Given the description of an element on the screen output the (x, y) to click on. 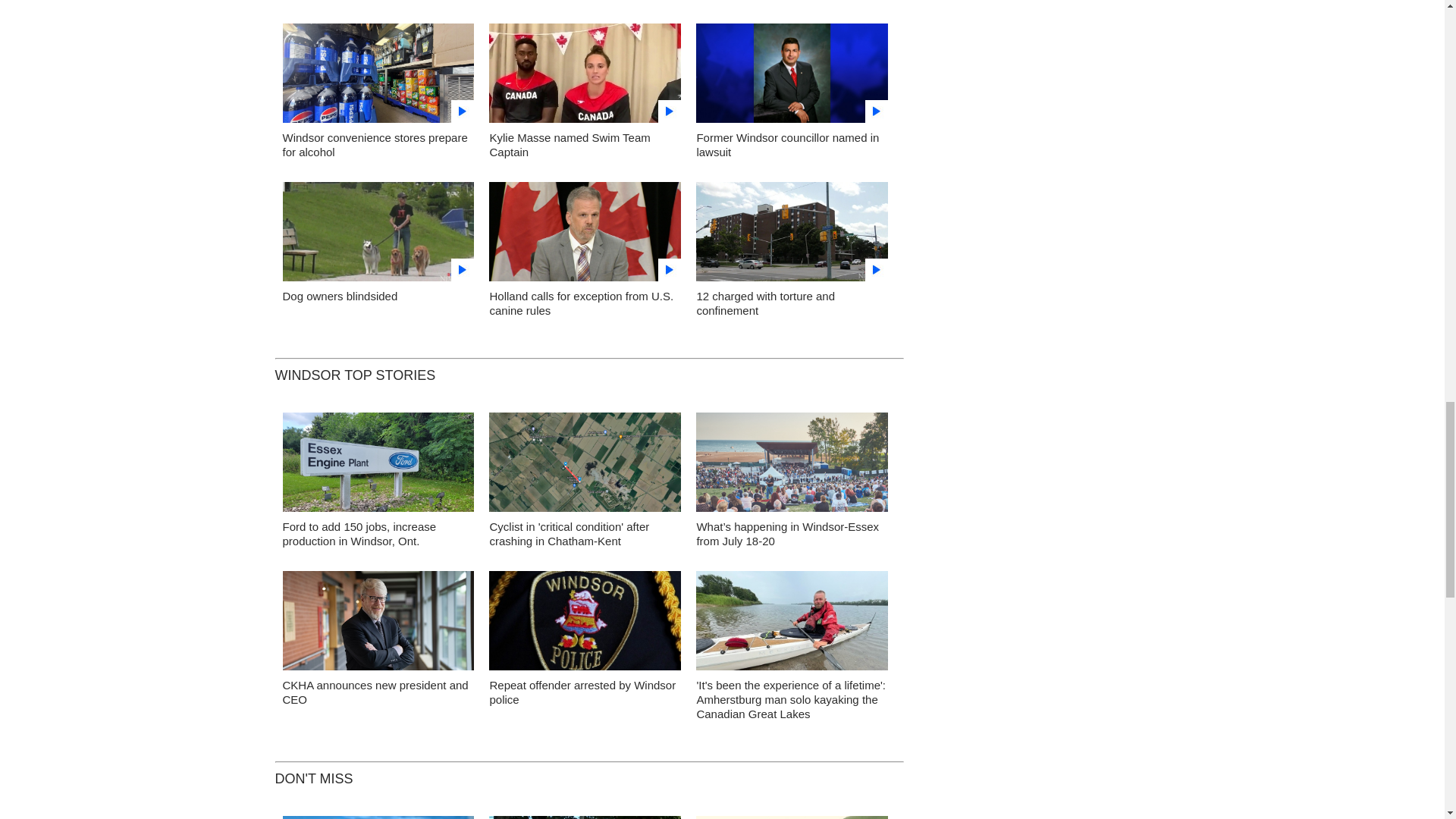
Ford Essex Engine Plant  (378, 466)
Non-alcoholic drinks in convenience stores (378, 77)
Windsor convenience stores prepare for alcohol (374, 144)
12 charged with torture and confinement (791, 235)
Jeewen Gill - Liberal  (791, 77)
cyclist crash - chatham kent - july 2024 (585, 466)
Former Windsor councillor named in lawsuit (787, 144)
Sunset Amphitheatre Leamington (791, 466)
false (791, 72)
false (791, 231)
Adam Topp (378, 624)
false (378, 231)
Holland calls for exception from U.S. canine rules (580, 302)
Dog owners blindsided  (378, 235)
Kylie Masse named Swim Team Captain (585, 77)
